Given the description of an element on the screen output the (x, y) to click on. 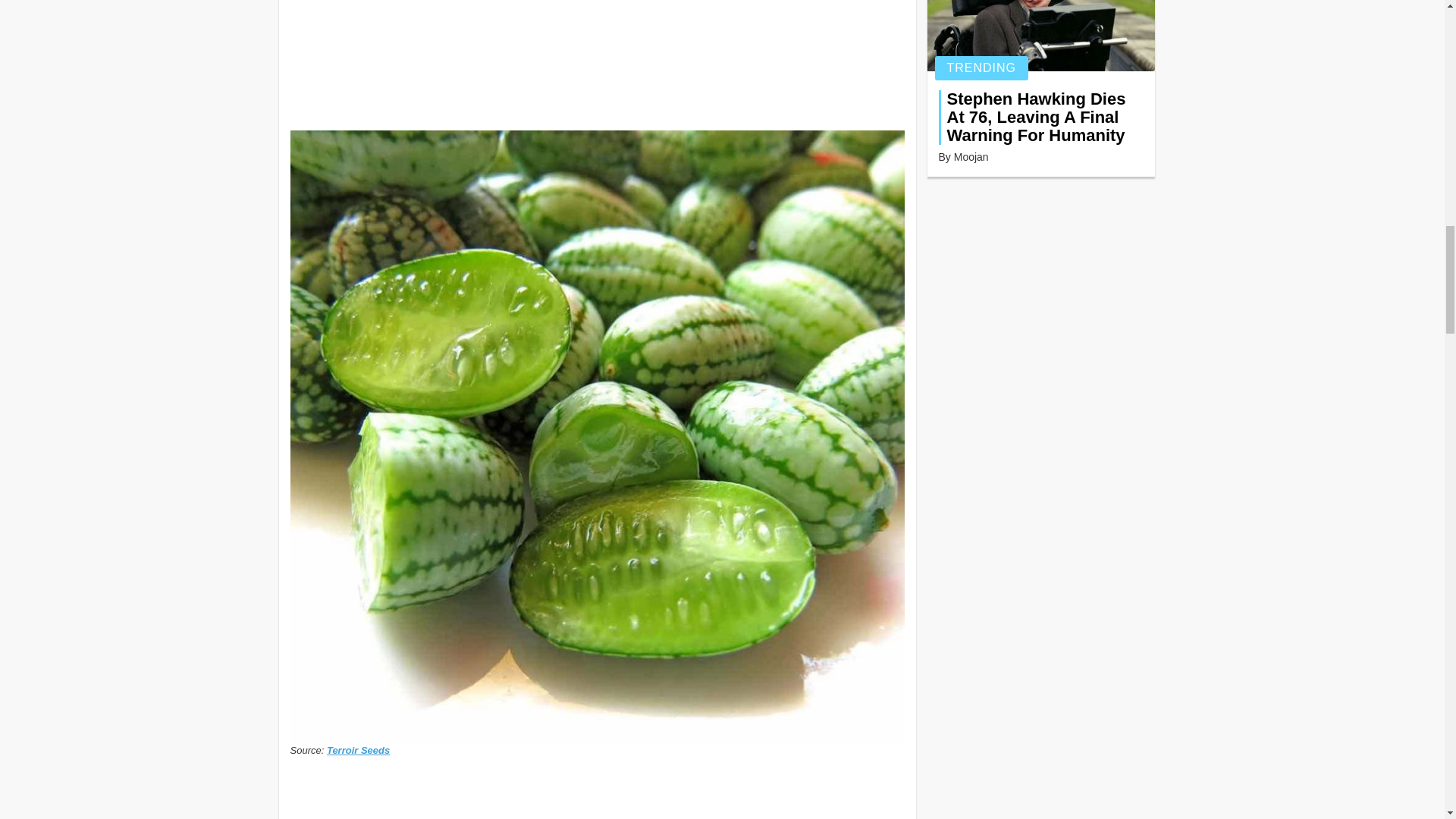
Moojan's Profile (970, 156)
Terroir Seeds (358, 749)
